Given the description of an element on the screen output the (x, y) to click on. 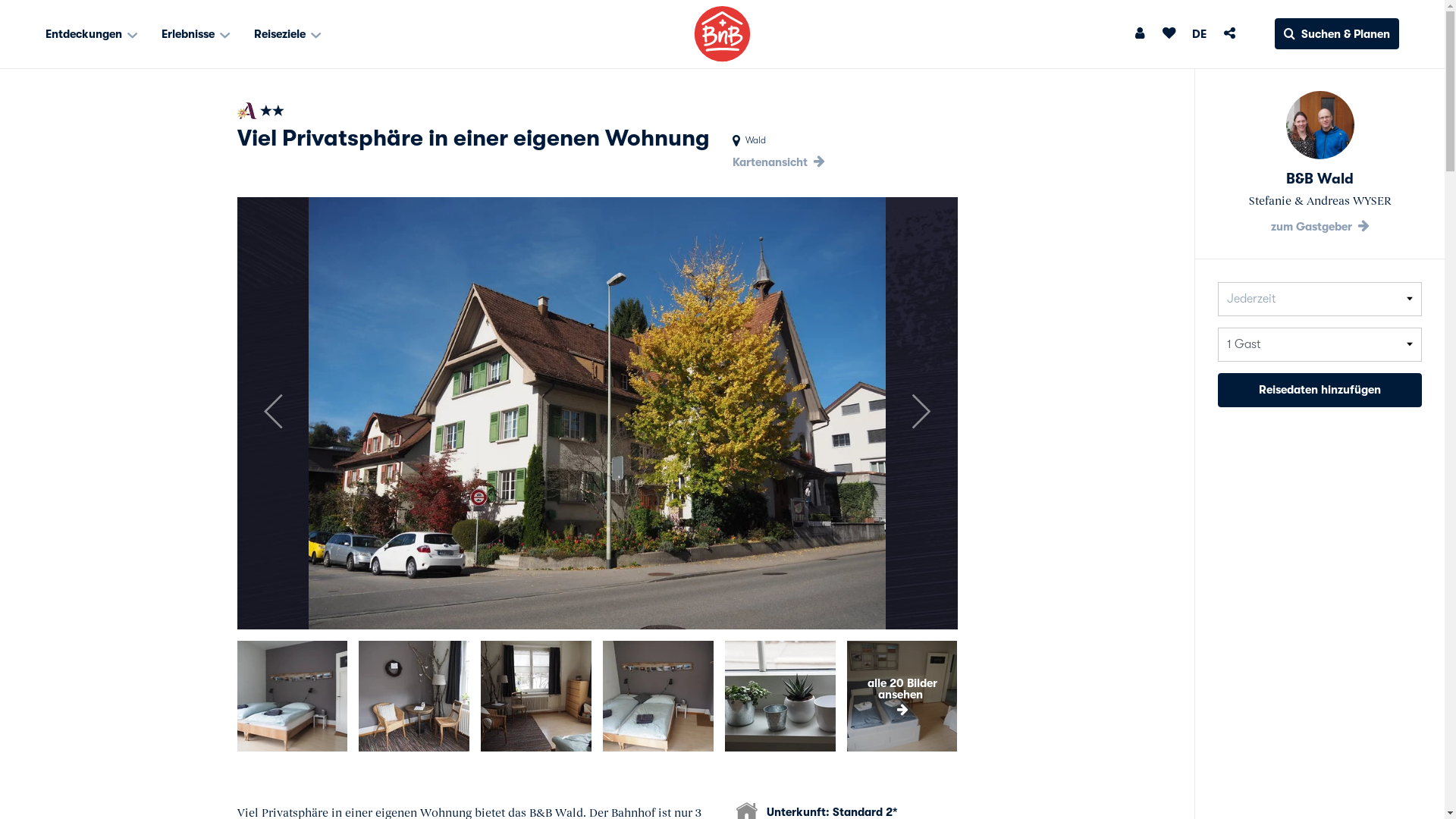
Teilen Element type: hover (1229, 32)
Kartenansicht  Element type: text (778, 162)
Favoriten Element type: hover (1167, 32)
DE Element type: text (1199, 33)
Mein Account Element type: hover (1140, 32)
Erlebnisse Element type: text (196, 33)
Entdeckungen Element type: text (91, 33)
BnB Switzerland Element type: hover (721, 33)
zum Gastgeber  Element type: text (1319, 226)
Zum letzten Bild Element type: text (272, 413)
Suchen & Planen Element type: text (1336, 33)
alle 20 Bilder ansehen  Element type: text (902, 695)
Reiseziele Element type: text (288, 33)
